Given the description of an element on the screen output the (x, y) to click on. 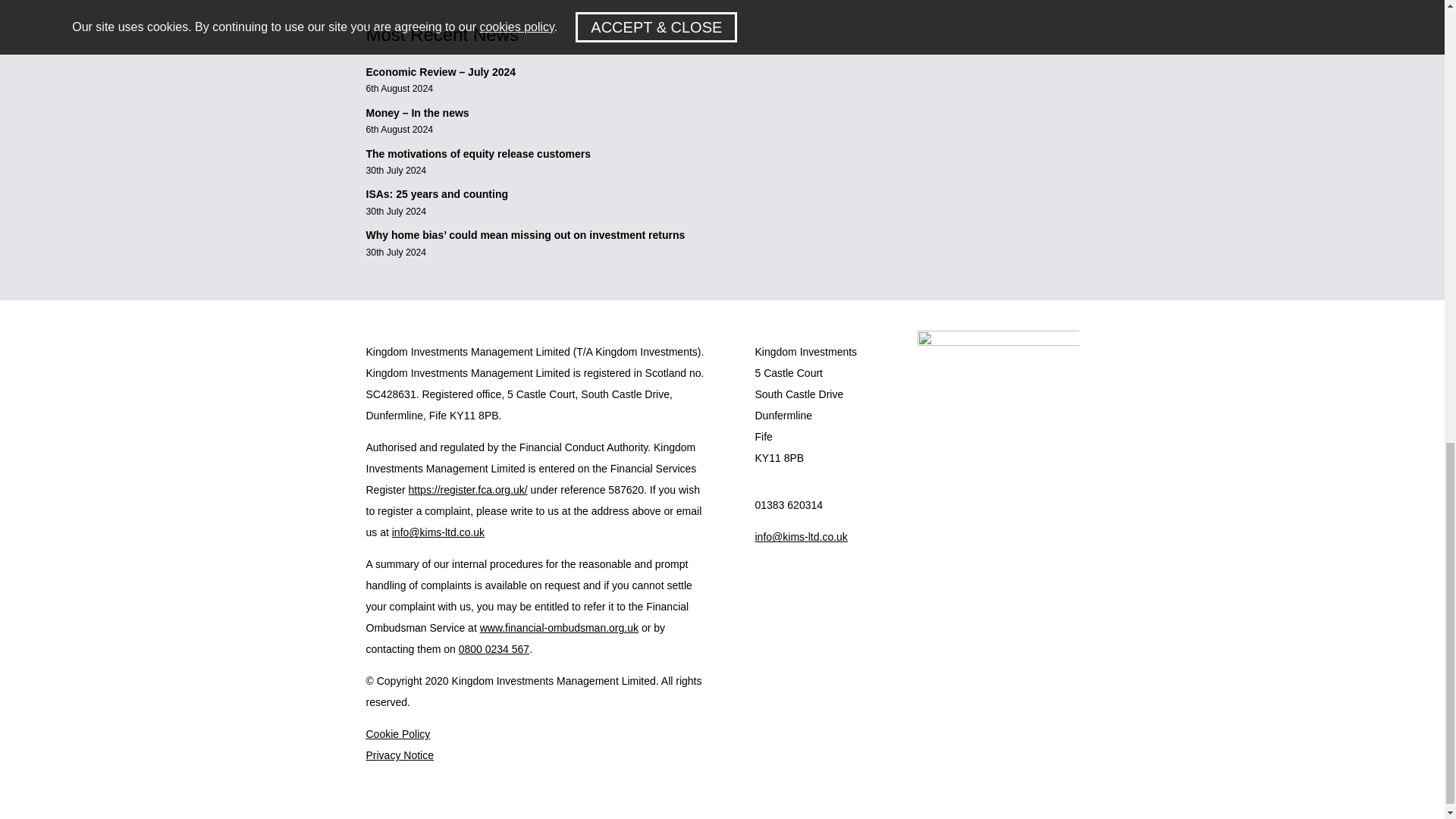
Privacy Notice (398, 755)
The motivations of equity release customers  (478, 153)
Cookie Policy (397, 734)
www.financial-ombudsman.org.uk (559, 627)
ISAs: 25 years and counting (436, 193)
0800 0234 567 (493, 648)
